Given the description of an element on the screen output the (x, y) to click on. 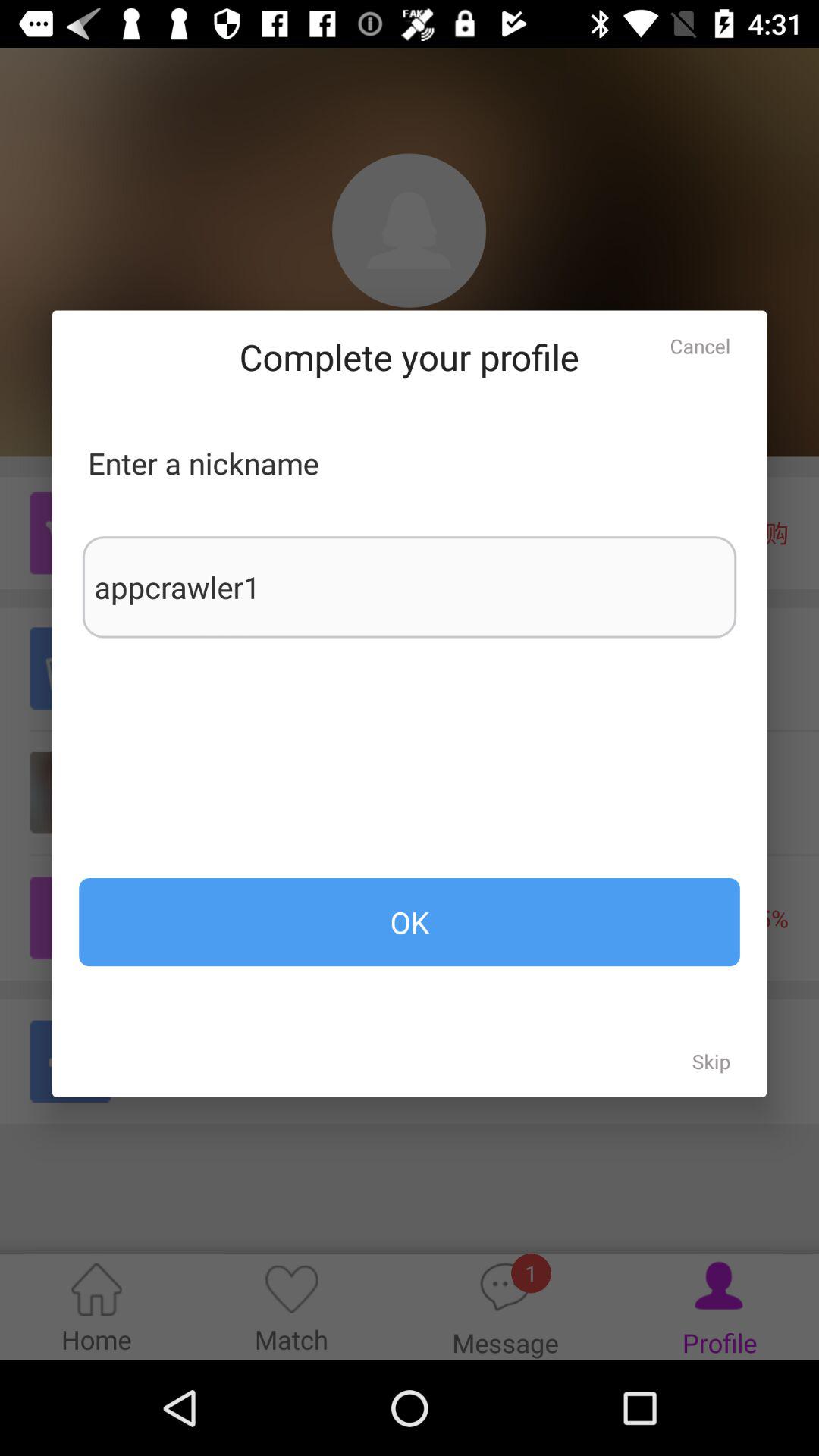
launch the skip icon (711, 1061)
